Given the description of an element on the screen output the (x, y) to click on. 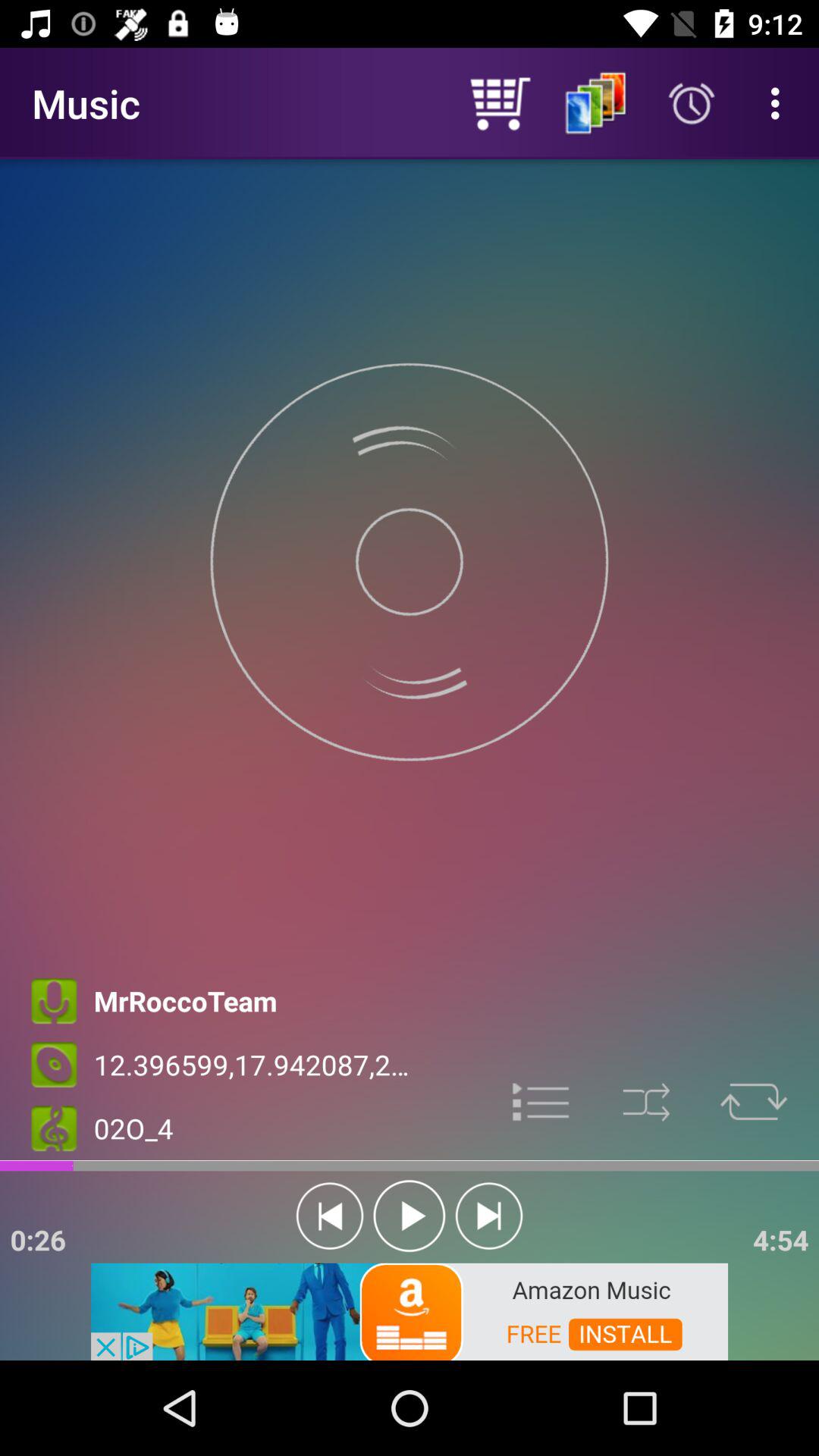
play option is turned on (409, 1215)
